Given the description of an element on the screen output the (x, y) to click on. 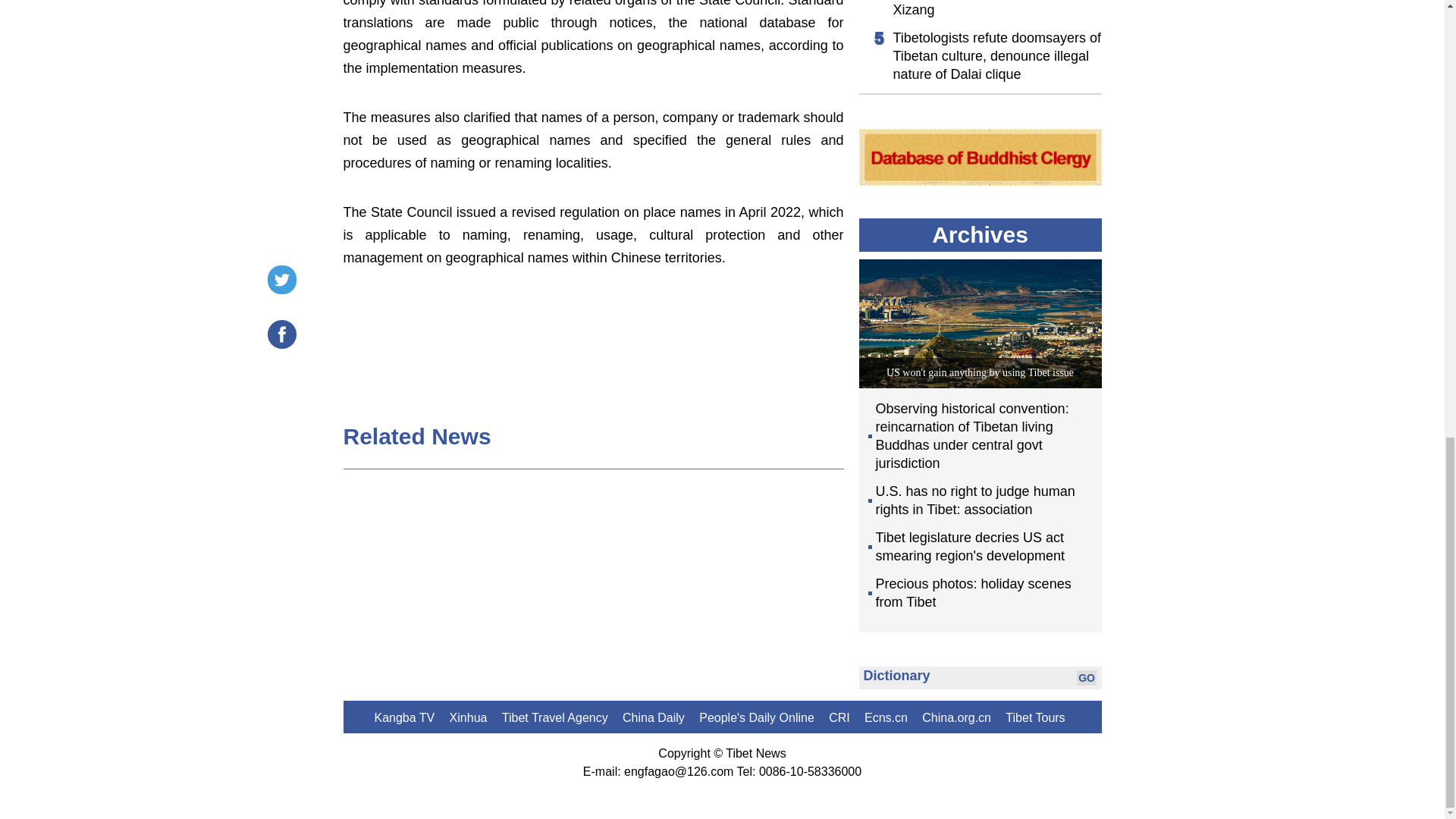
GO (1086, 677)
Kangba TV (404, 717)
Archives (979, 234)
Tibet Travel Agency (555, 717)
US won't gain anything by using Tibet issue (980, 372)
GO (1086, 677)
